Given the description of an element on the screen output the (x, y) to click on. 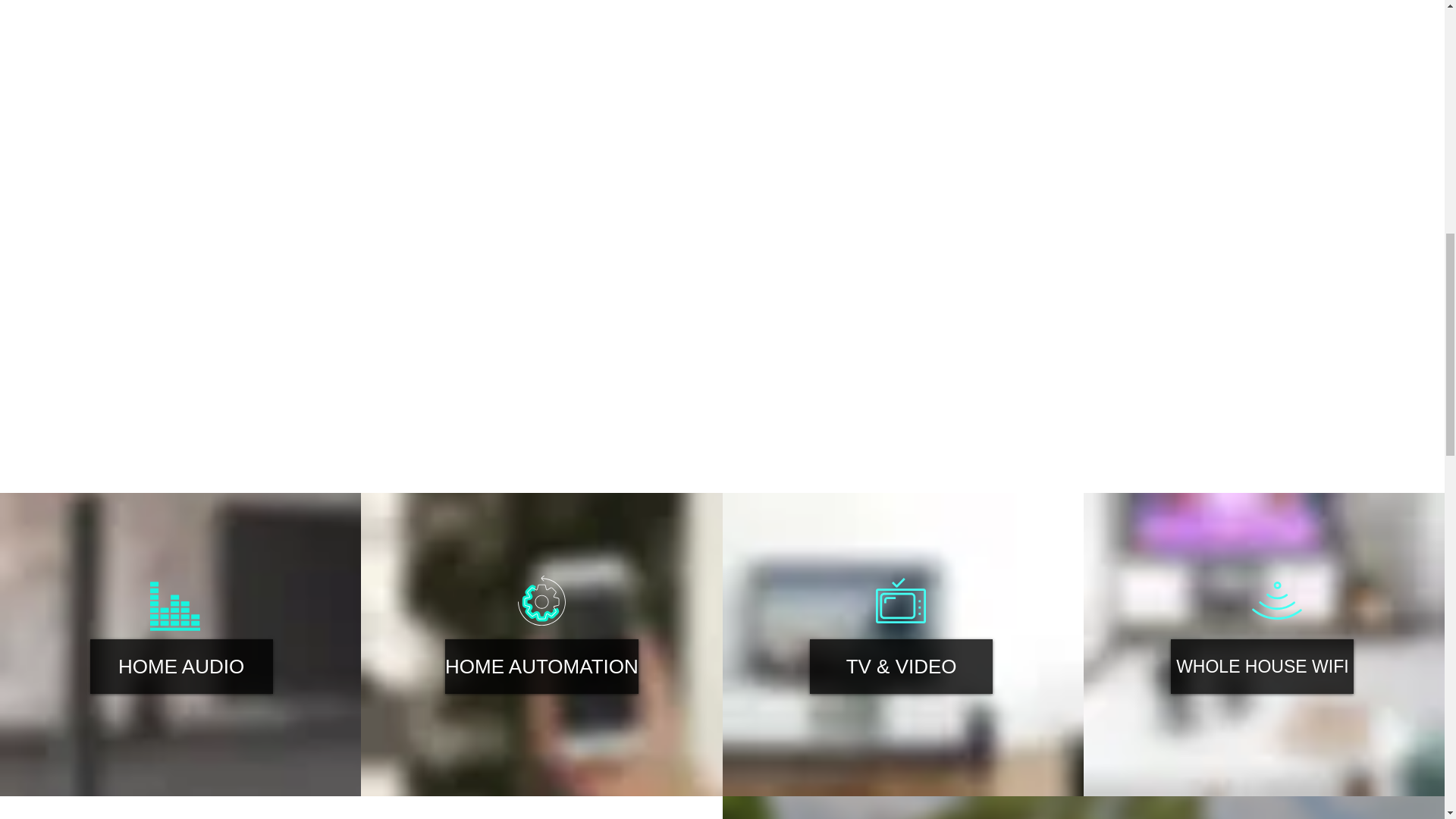
WHOLE HOUSE WIFI (1262, 666)
HOME AUTOMATION (542, 666)
HOME AUDIO (181, 666)
